Given the description of an element on the screen output the (x, y) to click on. 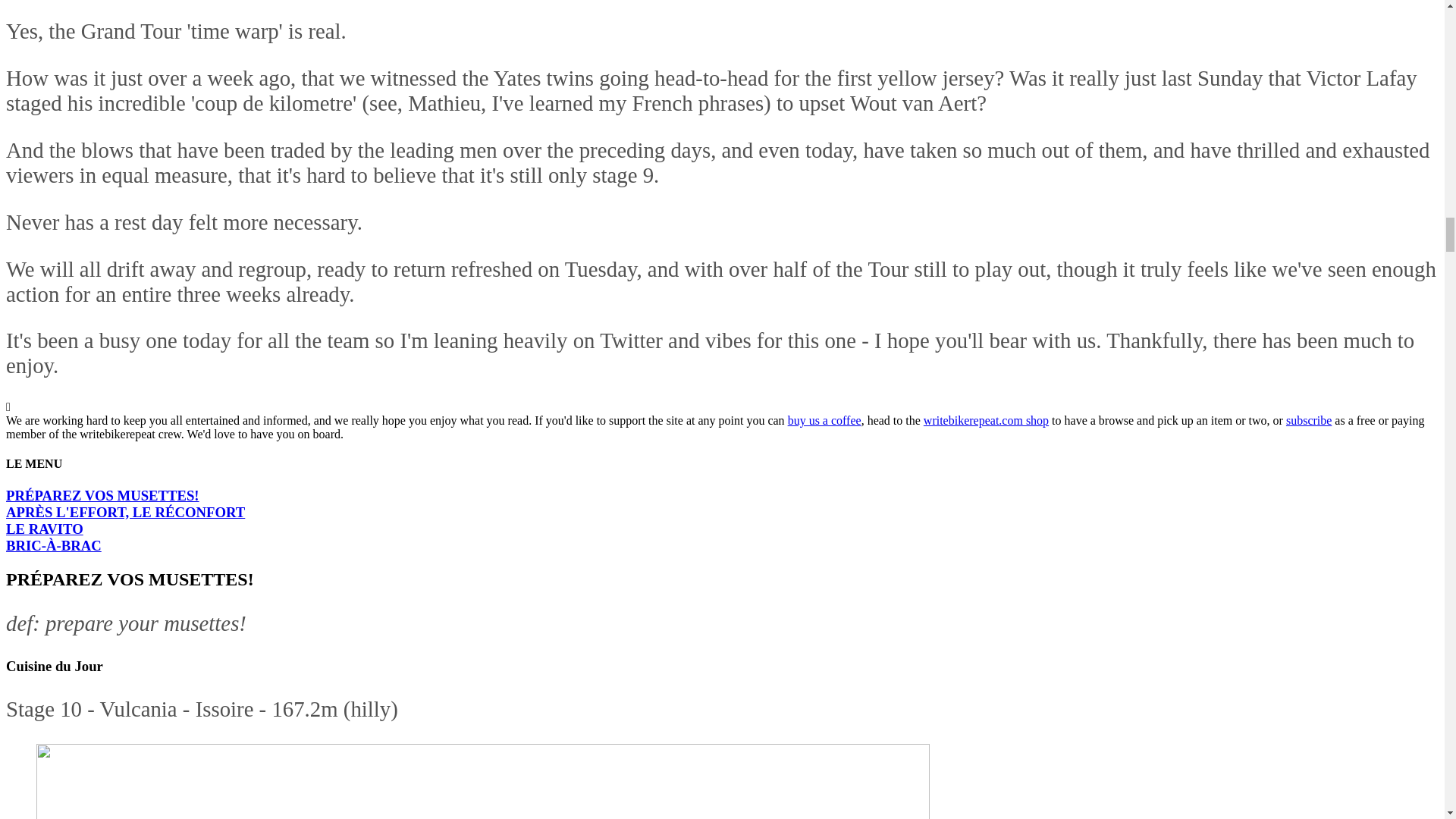
LE RAVITO (43, 528)
buy us a coffee (824, 420)
writebikerepeat.com shop (985, 420)
subscribe (1308, 420)
